Given the description of an element on the screen output the (x, y) to click on. 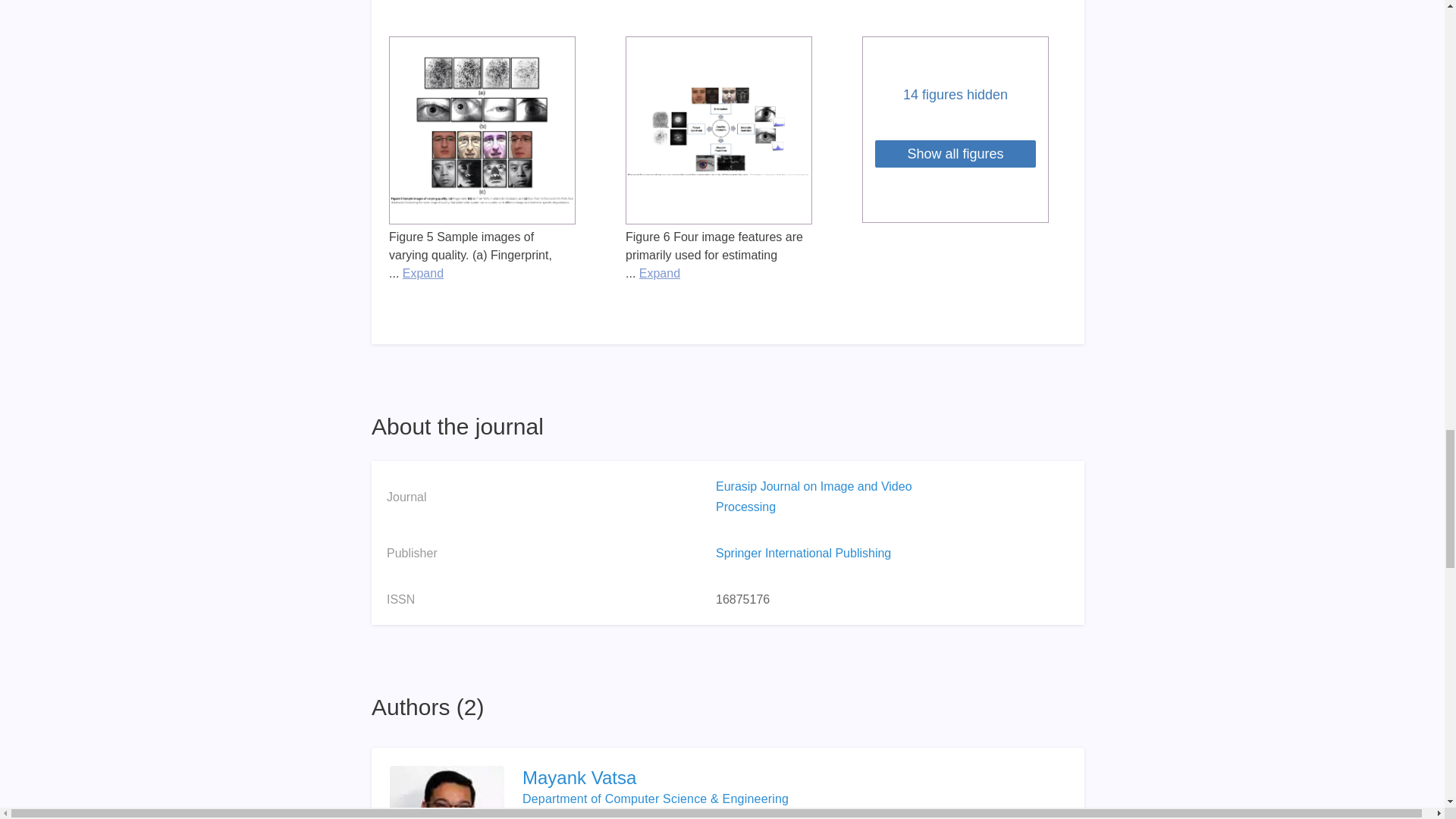
Eurasip Journal on Image and Video Processing (814, 496)
Mayank Vatsa (727, 777)
Springer International Publishing (803, 553)
